Given the description of an element on the screen output the (x, y) to click on. 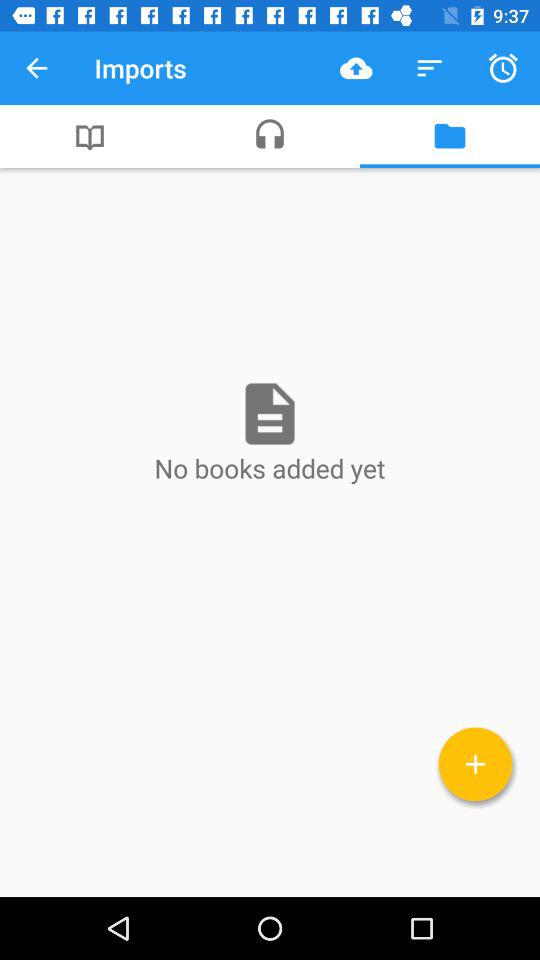
tap the item next to the imports icon (36, 68)
